Given the description of an element on the screen output the (x, y) to click on. 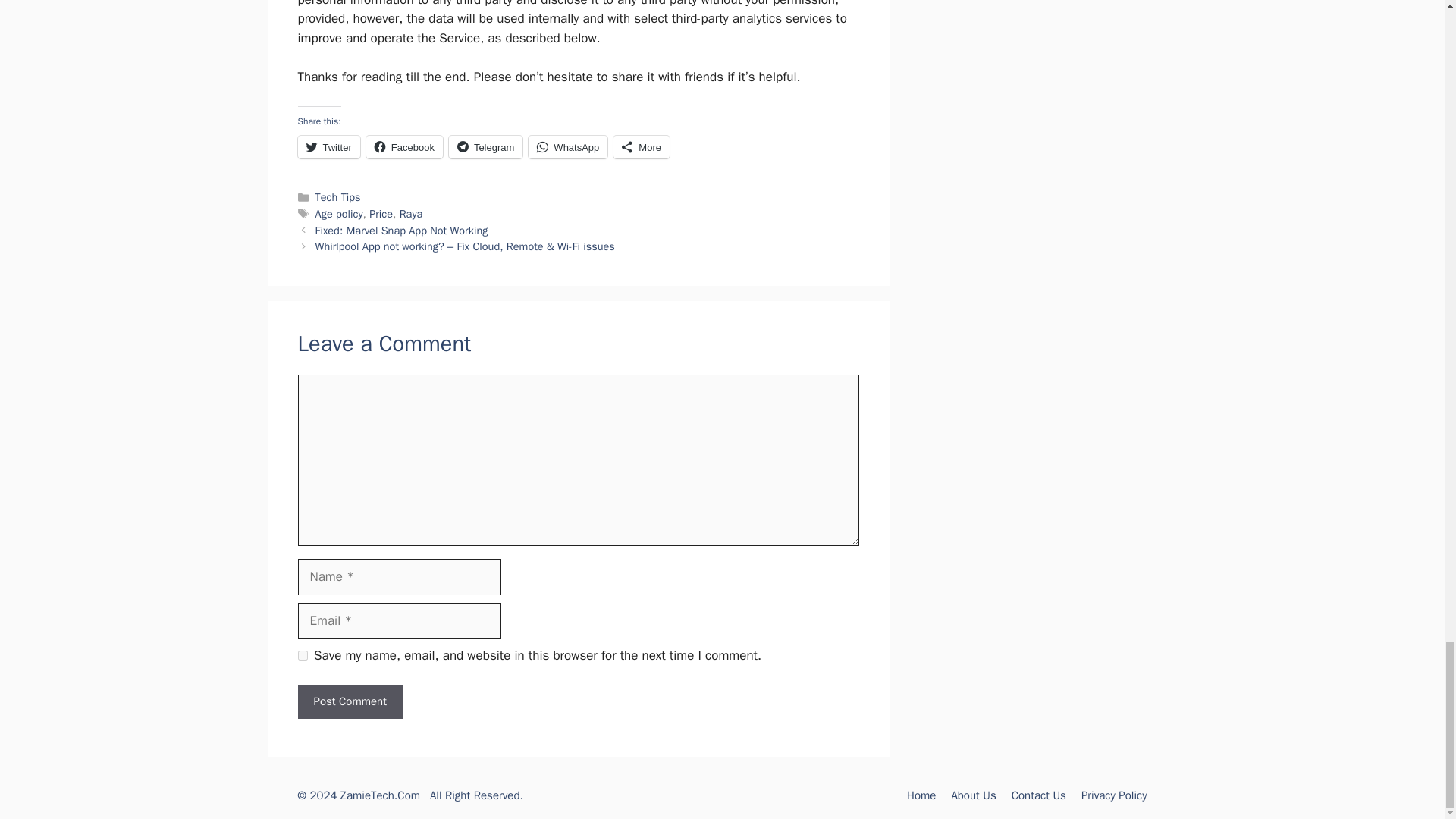
Tech Tips (338, 196)
WhatsApp (567, 146)
Fixed: Marvel Snap App Not Working (401, 230)
Raya (410, 213)
Click to share on Telegram (485, 146)
Age policy (338, 213)
Price (381, 213)
Post Comment (349, 701)
Telegram (485, 146)
yes (302, 655)
Facebook (404, 146)
More (640, 146)
Click to share on Twitter (328, 146)
Twitter (328, 146)
Click to share on Facebook (404, 146)
